Given the description of an element on the screen output the (x, y) to click on. 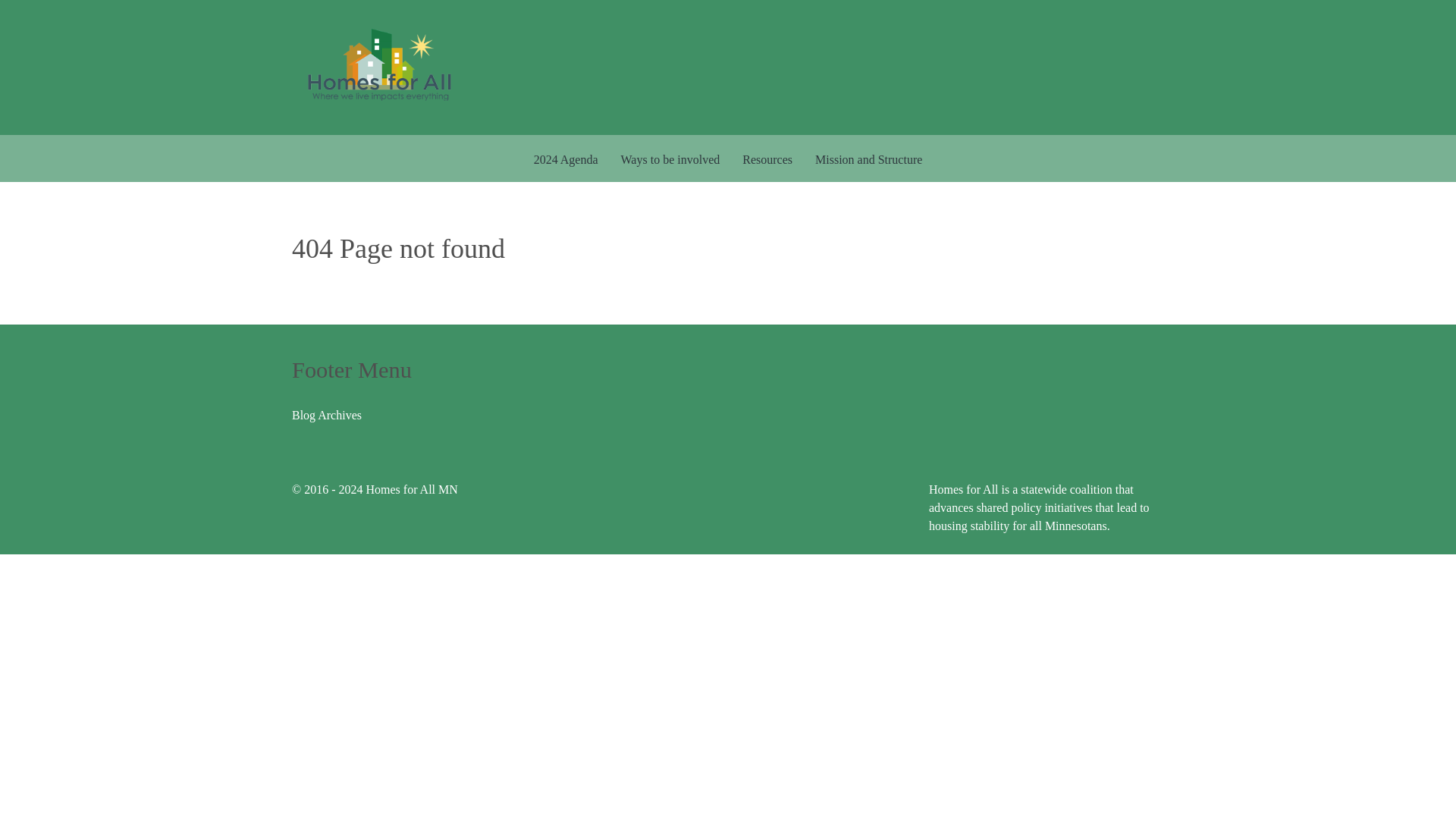
Homes For all MN (378, 65)
Resources (766, 158)
Ways to be involved (671, 158)
Mission and Structure (868, 158)
Mission and Structure (868, 158)
2024 Agenda (566, 158)
2024 Agenda (566, 158)
Blog Archives (326, 414)
Ways to be involved (671, 158)
Resources (766, 158)
